Given the description of an element on the screen output the (x, y) to click on. 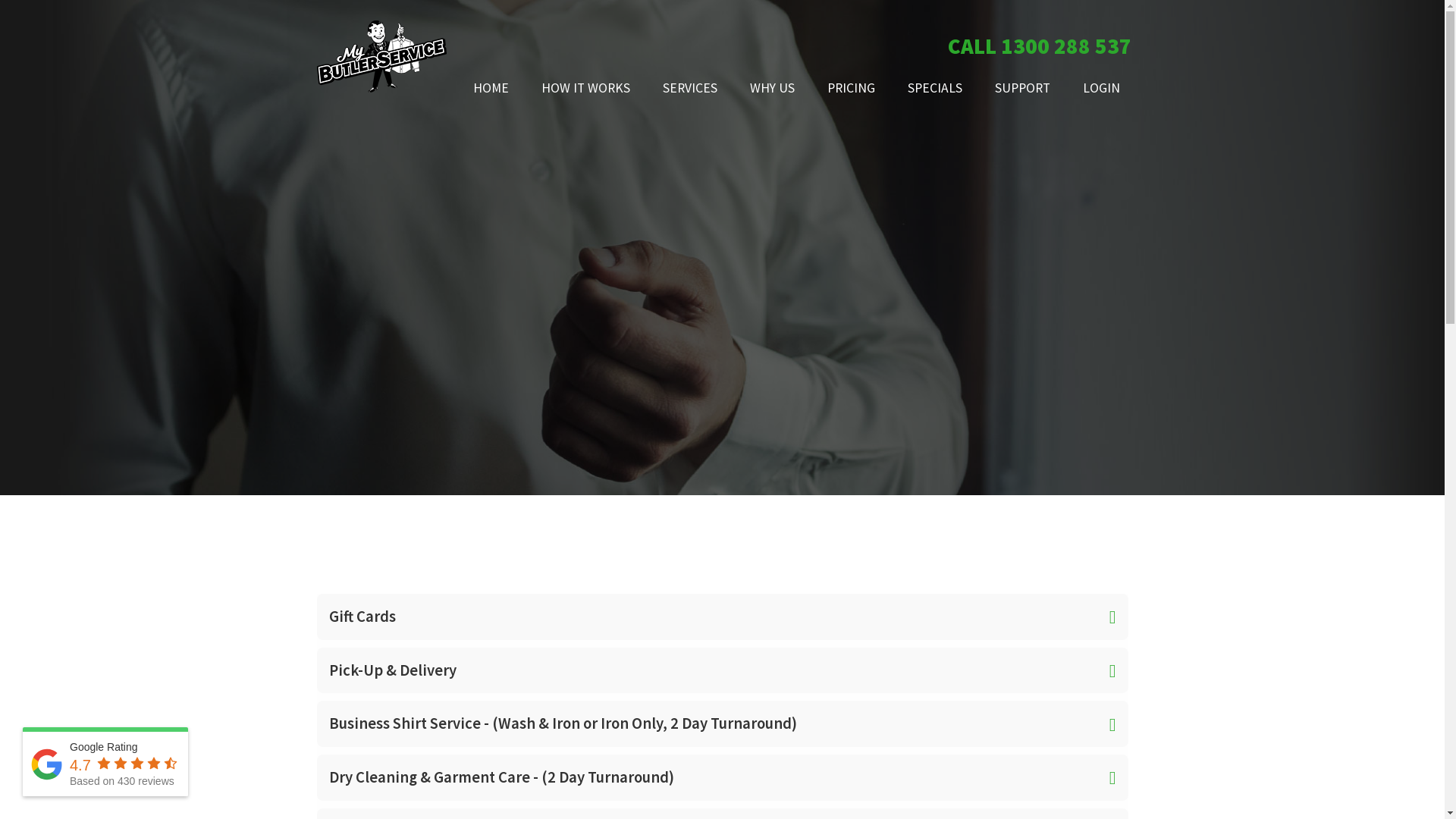
SPECIALS Element type: text (933, 88)
Dry Cleaning & Garment Care - (2 Day Turnaround) Element type: text (722, 777)
PRICING Element type: text (850, 88)
SERVICES Element type: text (689, 88)
WHY US Element type: text (771, 88)
HOW IT WORKS Element type: text (585, 88)
SUPPORT Element type: text (1022, 88)
Pick-Up & Delivery Element type: text (722, 670)
LOGIN Element type: text (1093, 88)
Gift Cards Element type: text (722, 616)
HOME Element type: text (491, 88)
CALL 1300 288 537 Element type: text (1029, 46)
